Given the description of an element on the screen output the (x, y) to click on. 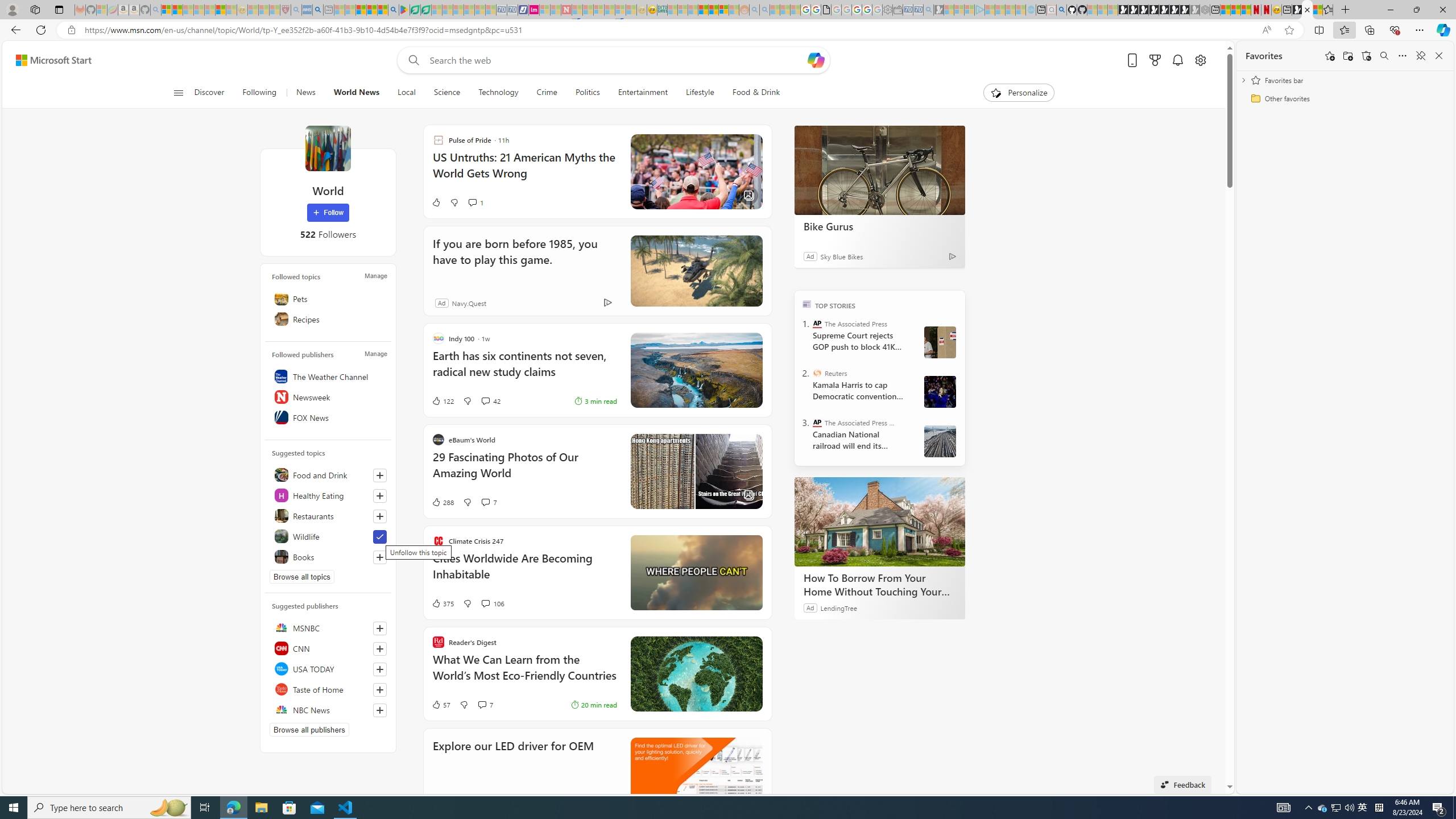
The Weather Channel (327, 376)
If you are born before 1985, you have to play this game. (521, 259)
